Given the description of an element on the screen output the (x, y) to click on. 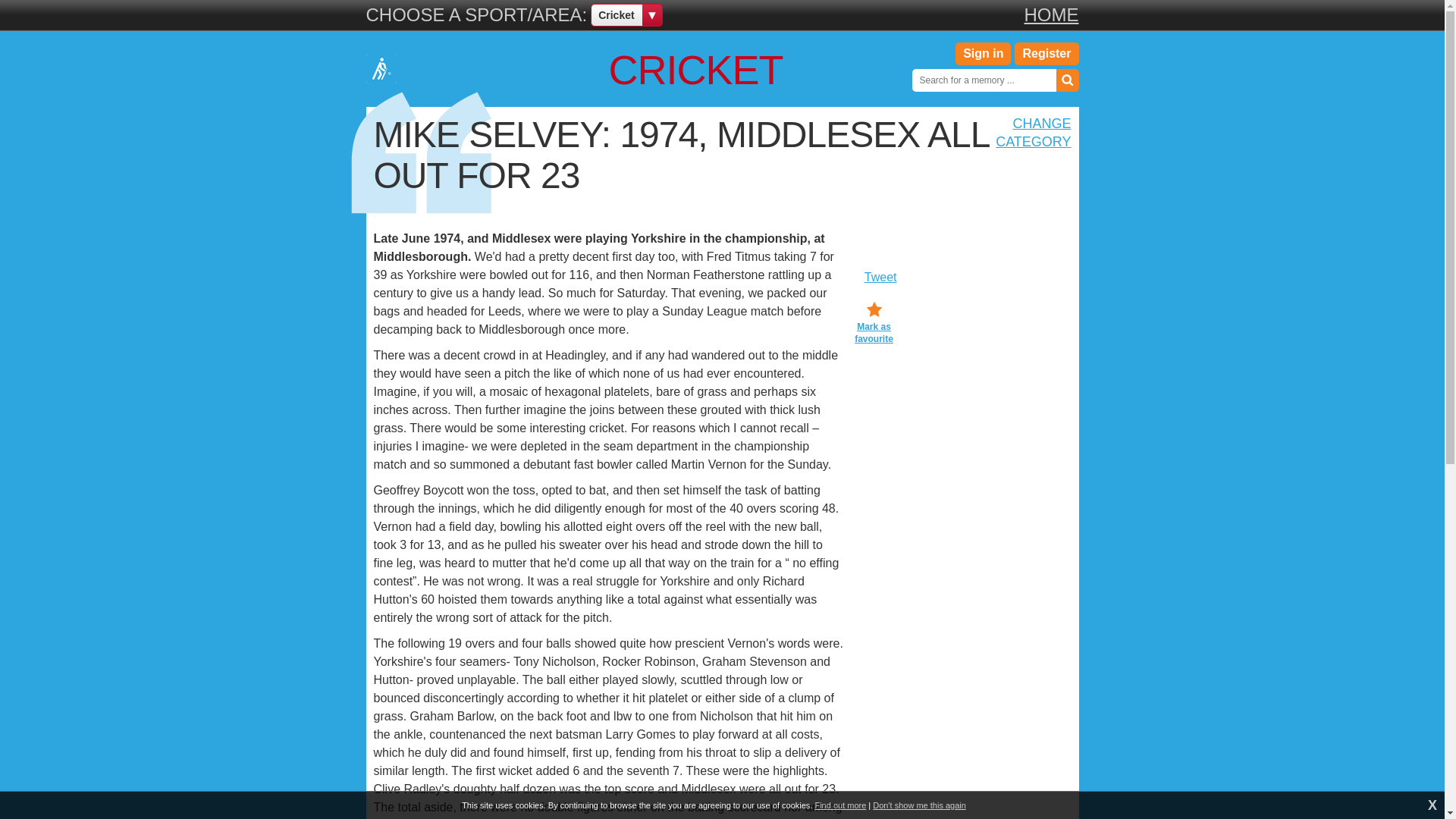
CRICKET (574, 69)
Mark as favourite (873, 323)
HOME (1050, 14)
Register (1046, 53)
Sign in (982, 53)
Tweet (880, 277)
